Given the description of an element on the screen output the (x, y) to click on. 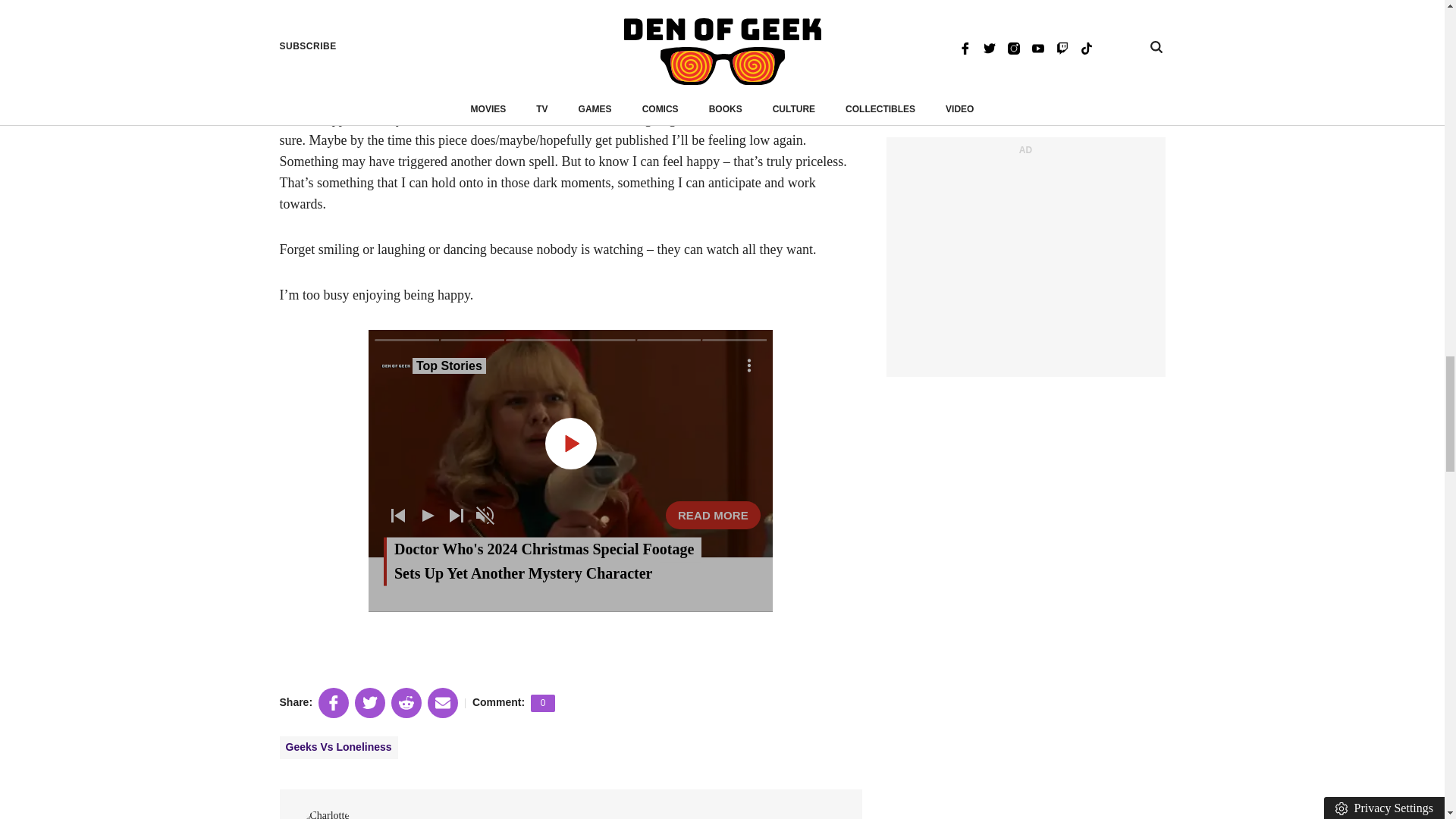
READ MORE (712, 515)
